Given the description of an element on the screen output the (x, y) to click on. 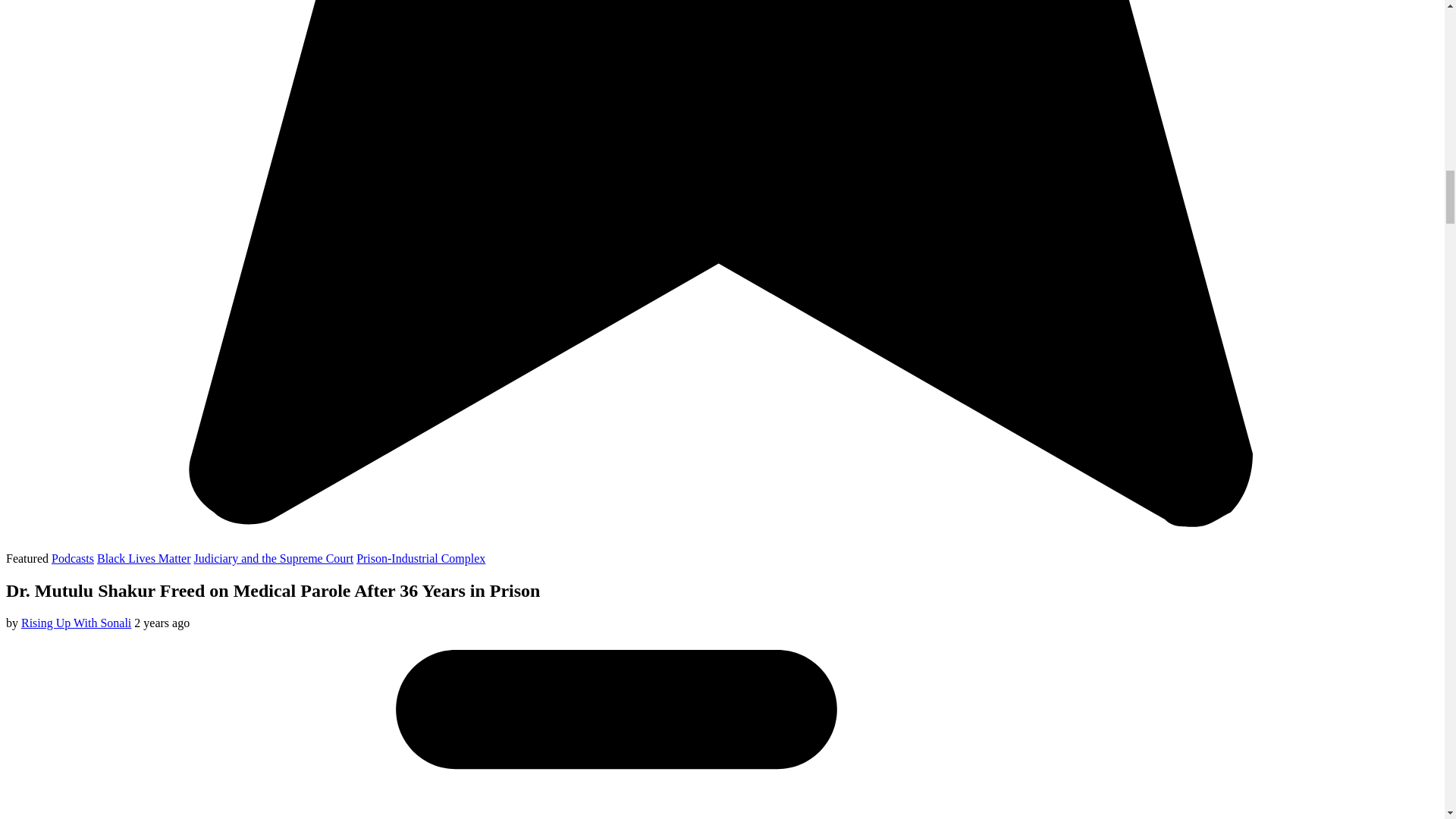
Judiciary and the Supreme Court (273, 558)
Prison-Industrial Complex (420, 558)
Rising Up With Sonali (76, 622)
Black Lives Matter (143, 558)
Podcasts (72, 558)
